Given the description of an element on the screen output the (x, y) to click on. 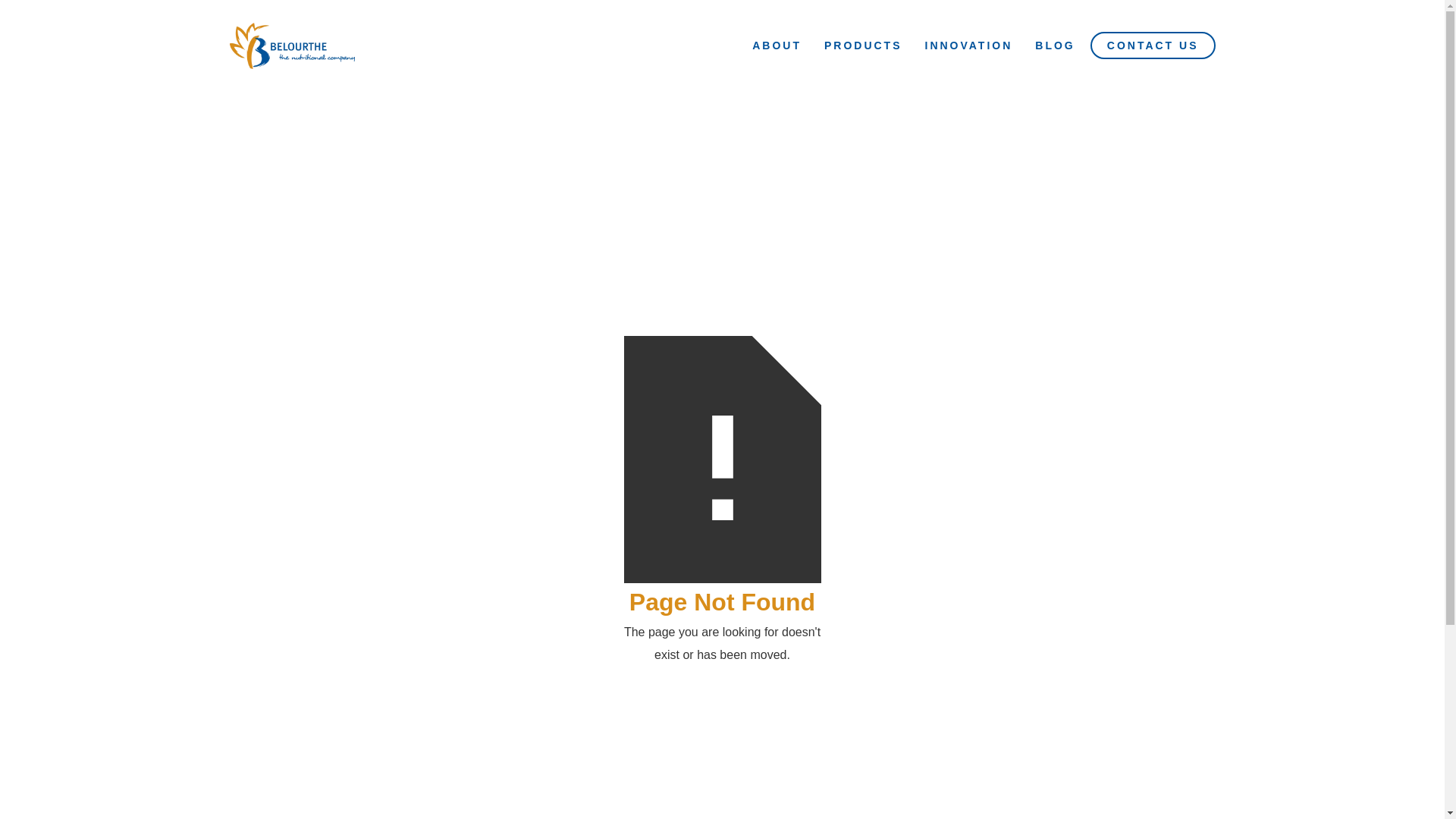
INNOVATION Element type: text (968, 45)
BLOG Element type: text (1054, 45)
PRODUCTS Element type: text (862, 45)
ABOUT Element type: text (776, 45)
CONTACT US Element type: text (1152, 45)
